Given the description of an element on the screen output the (x, y) to click on. 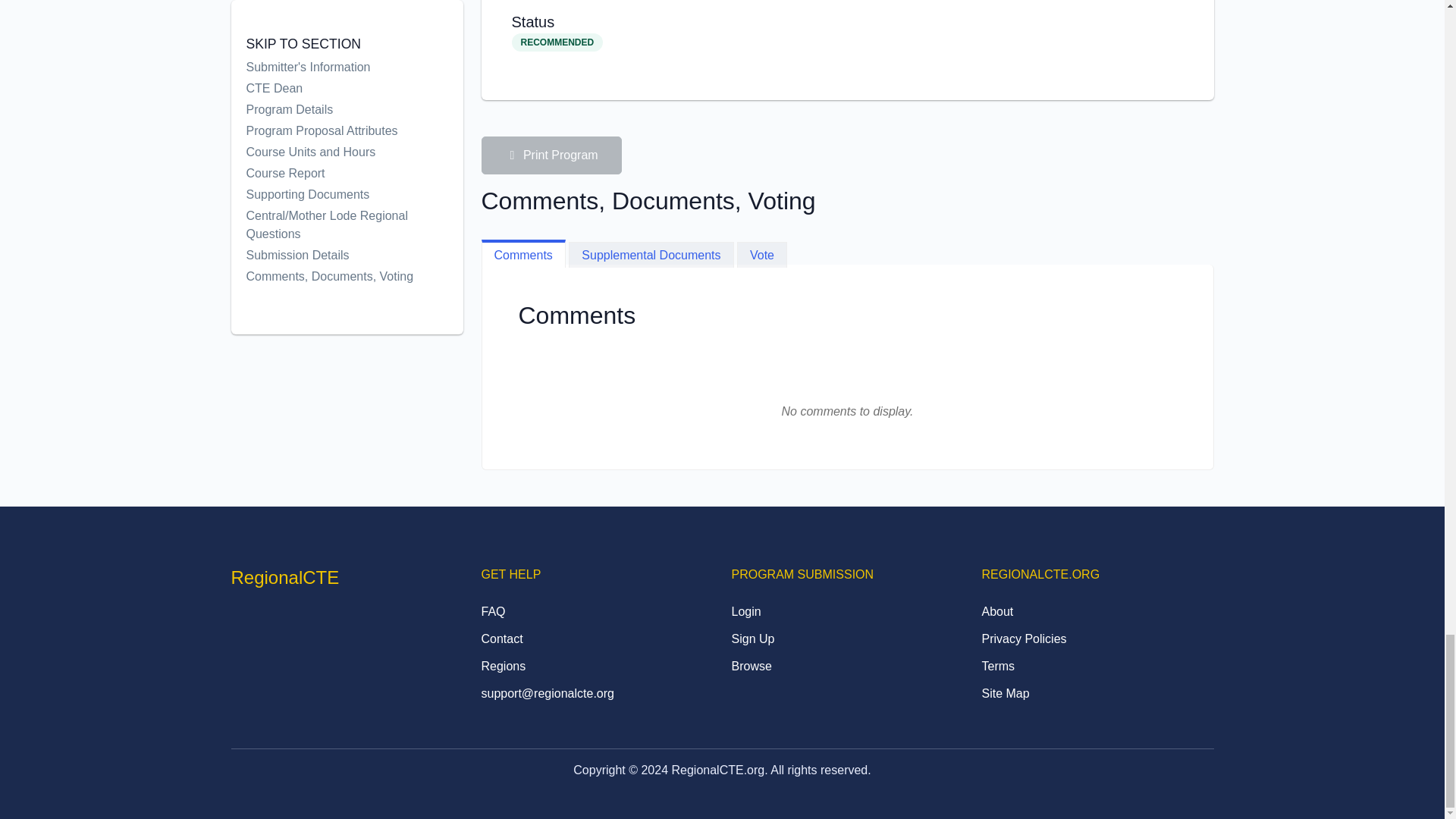
Print Program (550, 155)
Contact (501, 640)
Comments (522, 253)
Vote (761, 254)
Browse (750, 667)
Regions (502, 667)
Login (745, 612)
Sign Up (752, 640)
Supplemental Documents (651, 254)
FAQ (492, 612)
Need a PDF? Click print and save as PDF. (550, 155)
